Given the description of an element on the screen output the (x, y) to click on. 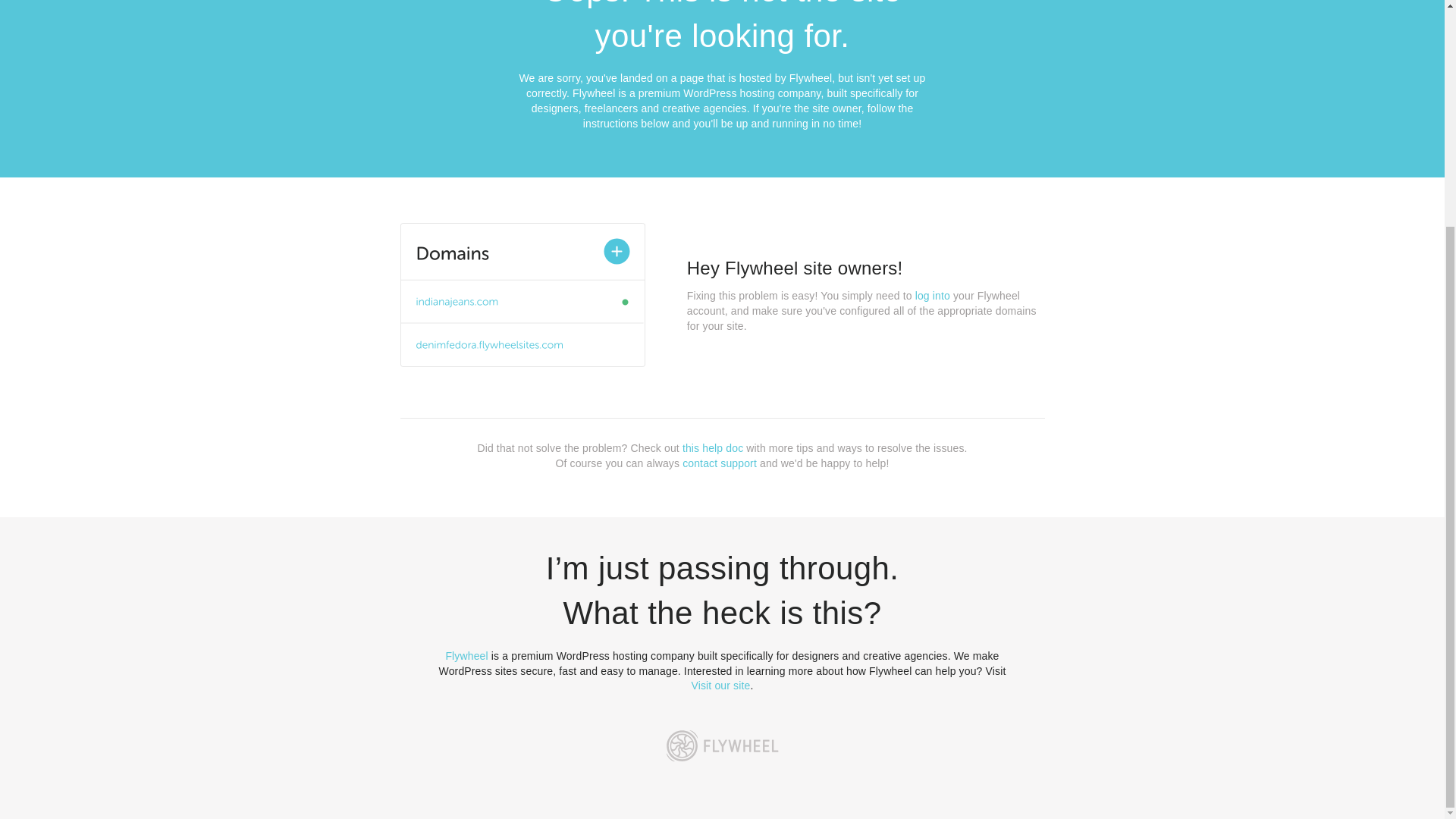
Visit our site (721, 685)
log into (932, 295)
this help doc (712, 448)
Flywheel (466, 655)
contact support (719, 463)
